Given the description of an element on the screen output the (x, y) to click on. 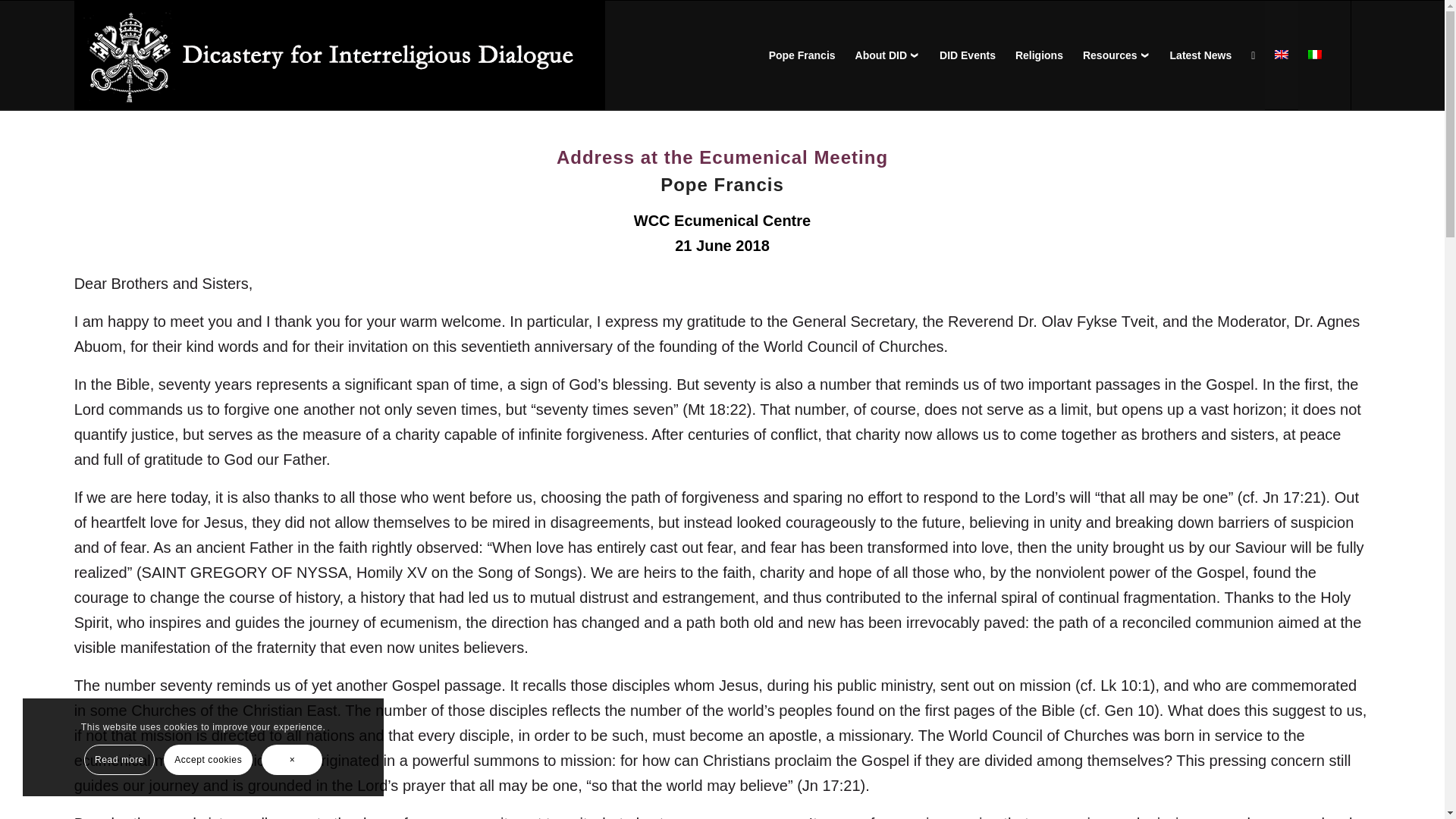
logo for website May 2022 WHITE (339, 56)
Accept cookies (207, 759)
Italiano (1314, 53)
logo for website May 2022 WHITE (339, 54)
Read more (119, 759)
English (1281, 53)
